Given the description of an element on the screen output the (x, y) to click on. 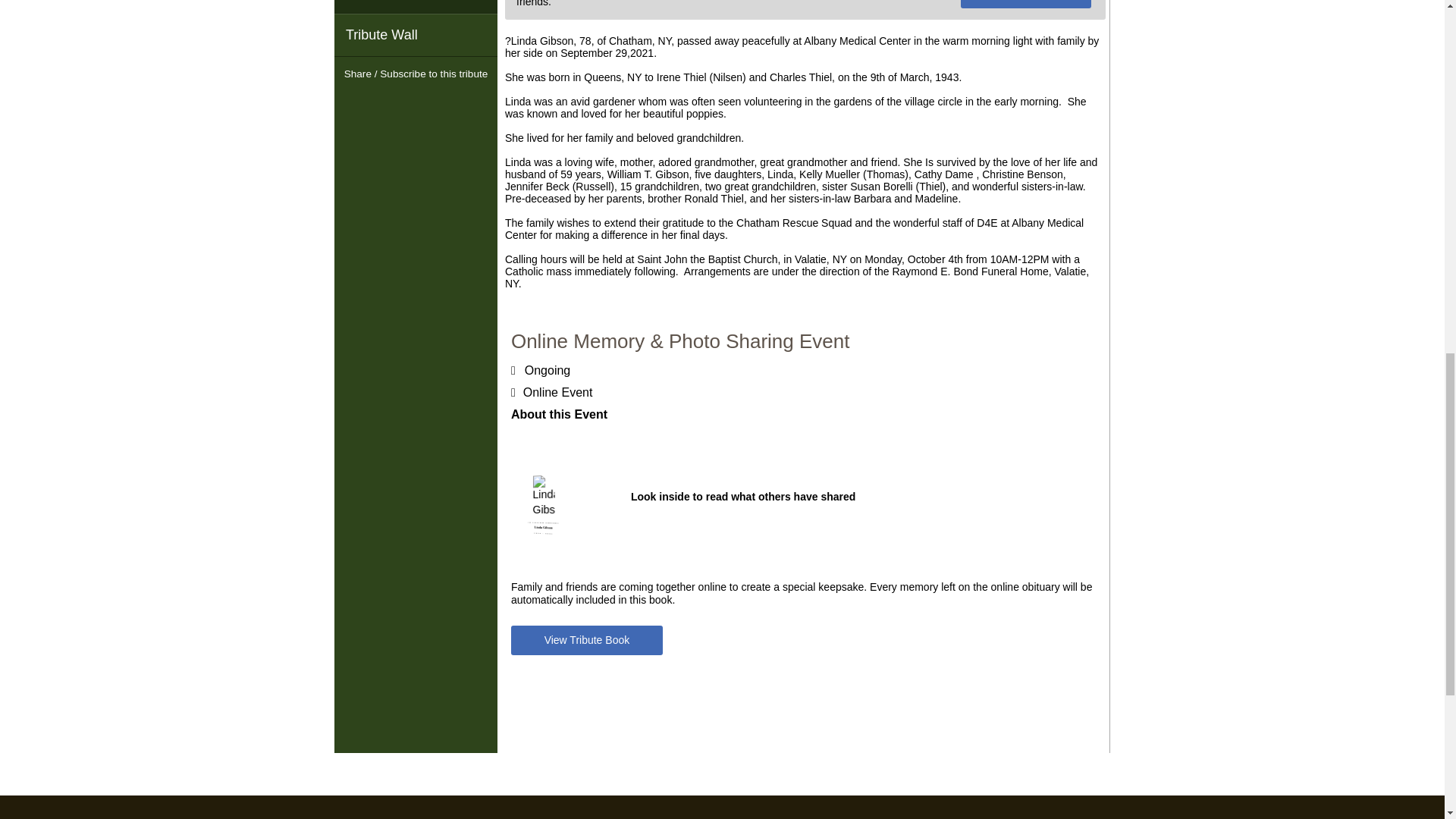
View Tribute Book (1026, 4)
Twitter (415, 102)
View Tribute Book (586, 640)
Facebook (387, 102)
Receive Notifications (442, 102)
Tribute Wall (415, 35)
Obituary (415, 6)
